Given the description of an element on the screen output the (x, y) to click on. 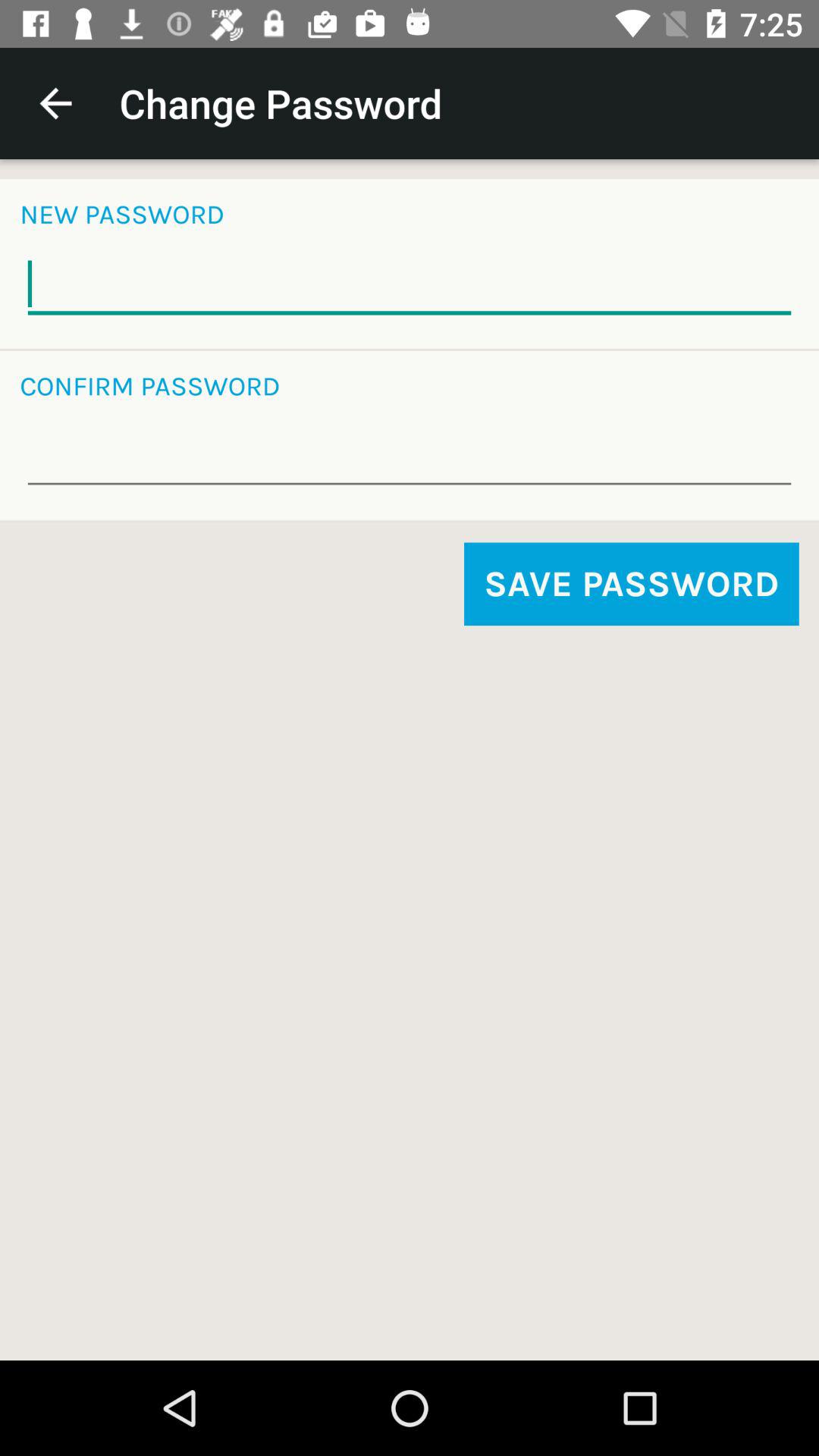
add new password (409, 284)
